Given the description of an element on the screen output the (x, y) to click on. 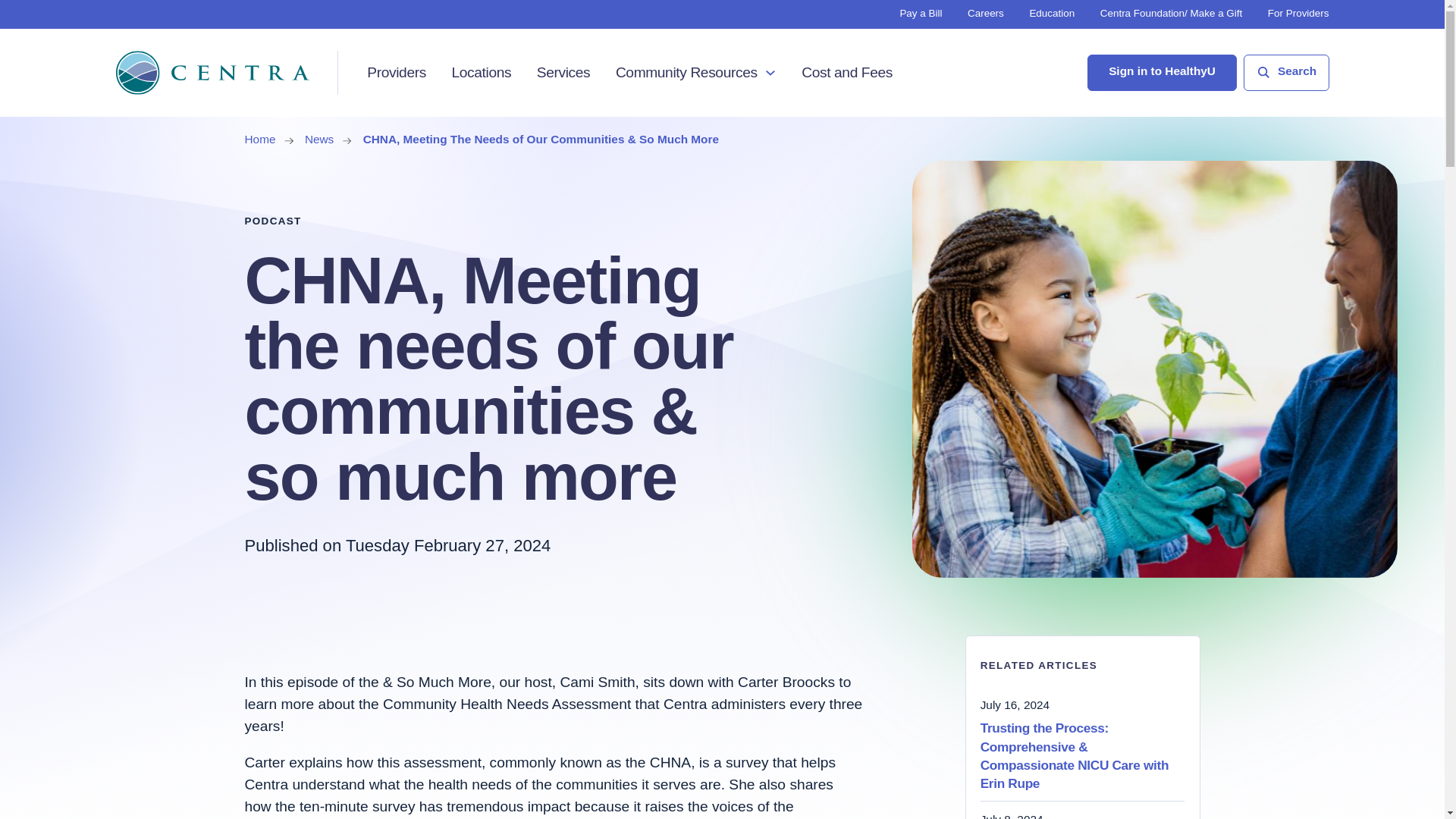
Home (259, 138)
Services (564, 73)
Pay a Bill (920, 12)
Community Resources (686, 73)
News (318, 138)
Locations (481, 73)
Careers (986, 12)
Sign in to HealthyU (1161, 72)
Providers (396, 73)
Cost and Fees (847, 73)
Search (1285, 72)
Education (1051, 12)
For Providers (1298, 12)
Menu Item Drawer (770, 71)
